Given the description of an element on the screen output the (x, y) to click on. 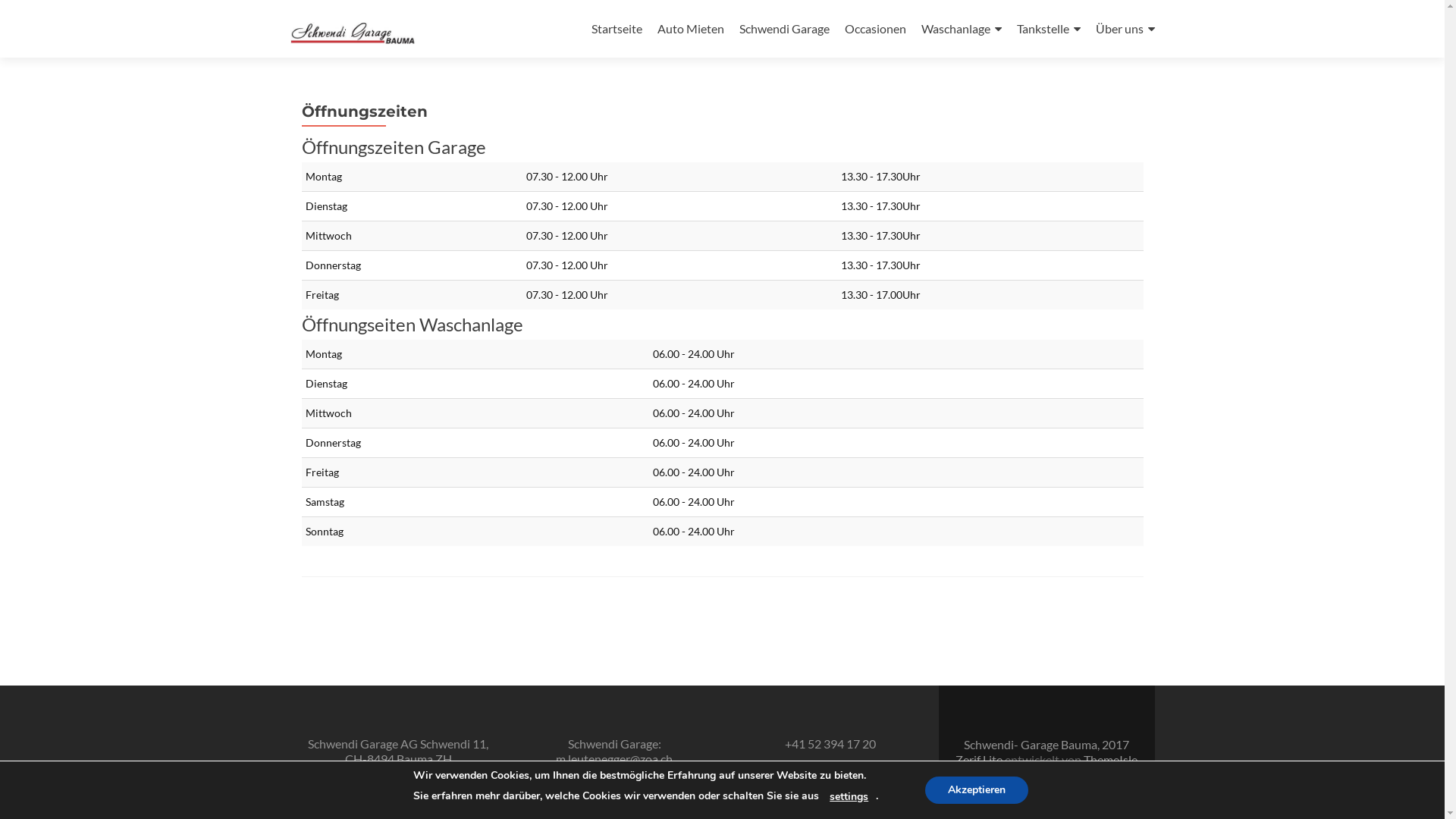
Occasionen Element type: text (875, 28)
Schwendi Garage Element type: text (783, 28)
Waschanlage Element type: text (960, 28)
settings Element type: text (848, 796)
Startseite Element type: text (616, 28)
Akzeptieren Element type: text (976, 789)
Zum Inhalt springen Element type: text (643, 9)
Tankstelle Element type: text (1047, 28)
ThemeIsle Element type: text (1110, 759)
Zerif Lite Element type: text (979, 759)
Auto Mieten Element type: text (689, 28)
